Given the description of an element on the screen output the (x, y) to click on. 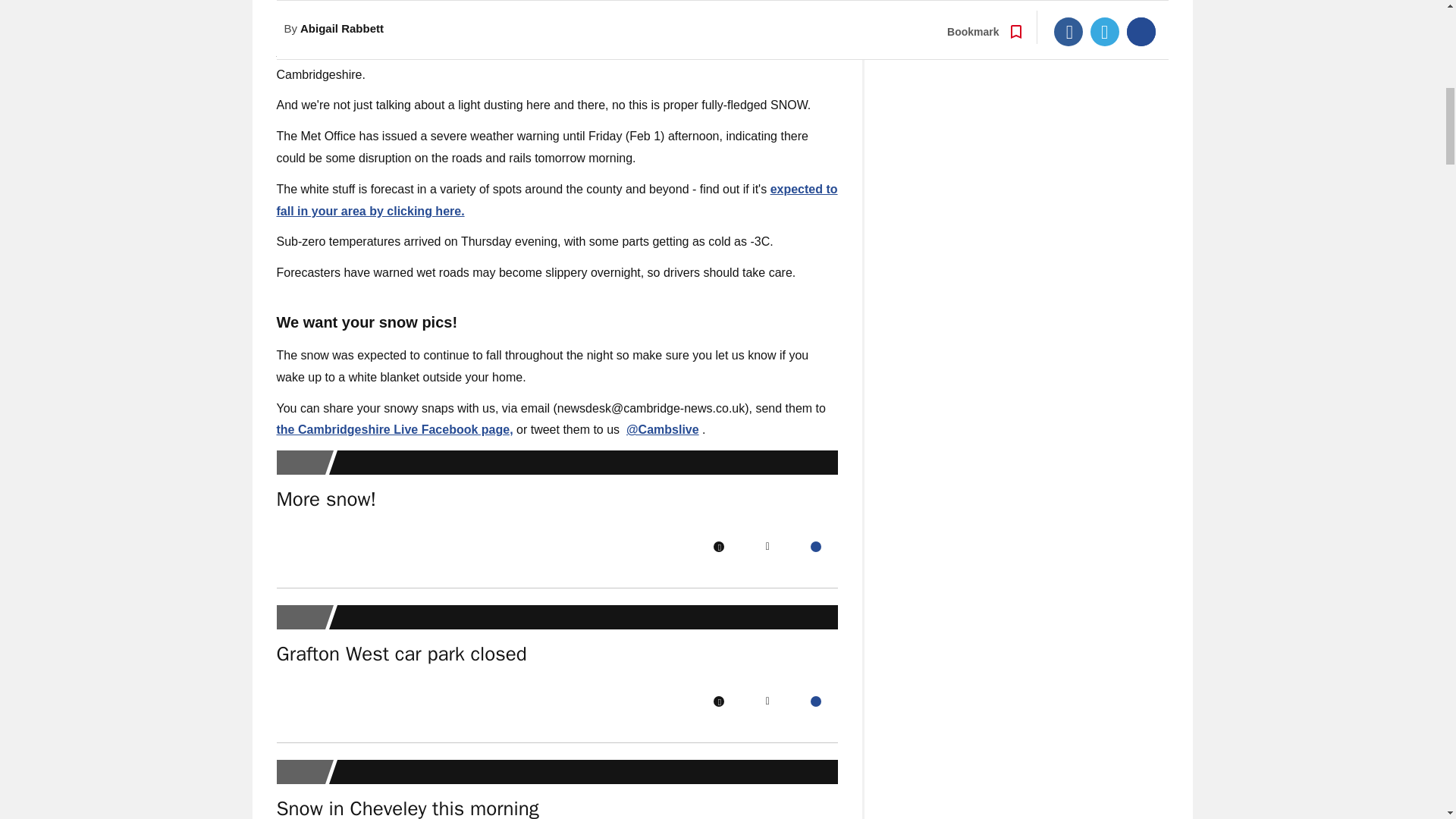
Facebook (718, 701)
Twitter (767, 546)
Twitter (767, 701)
Facebook (718, 546)
